Given the description of an element on the screen output the (x, y) to click on. 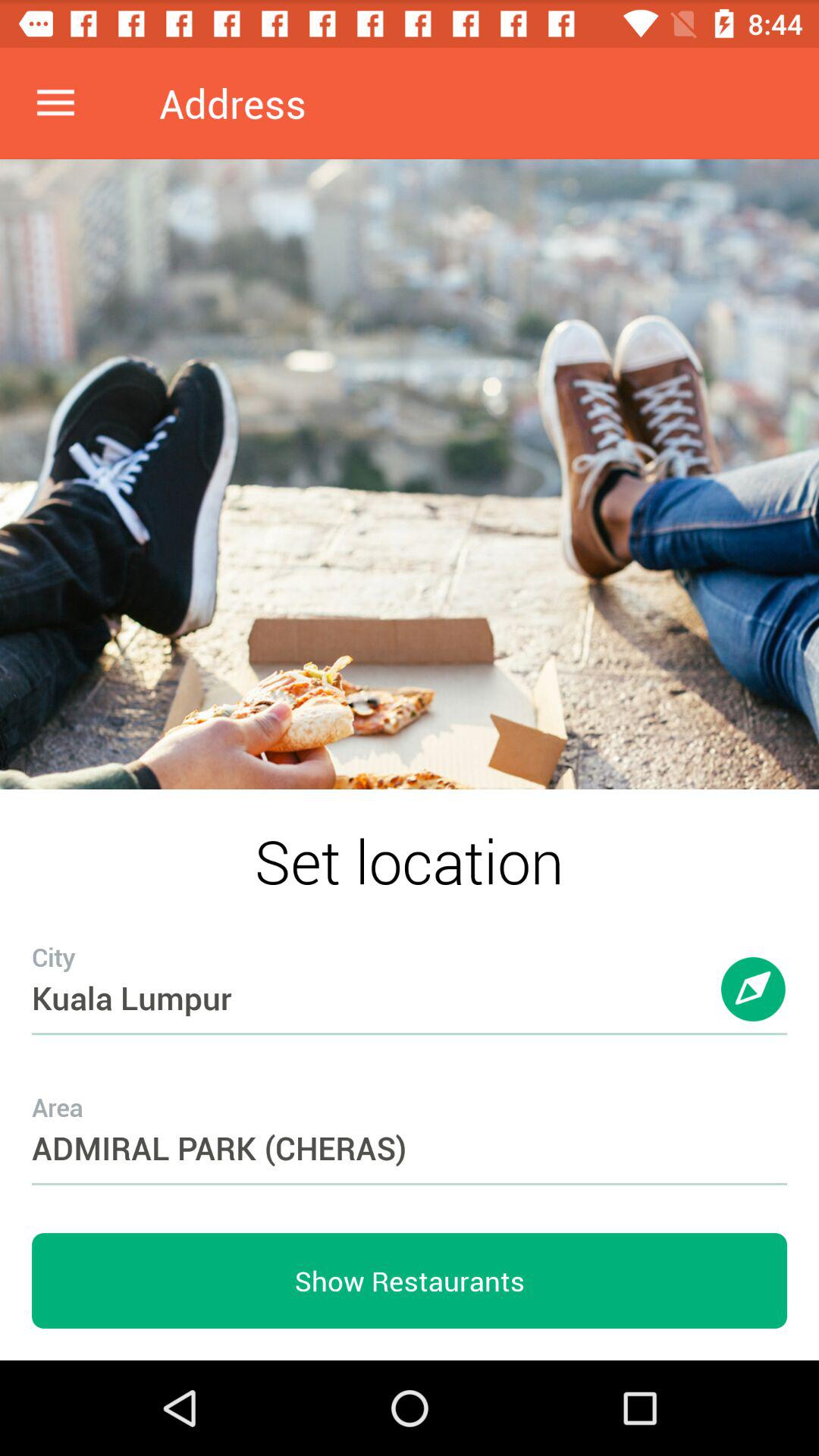
jump to show restaurants icon (409, 1280)
